Given the description of an element on the screen output the (x, y) to click on. 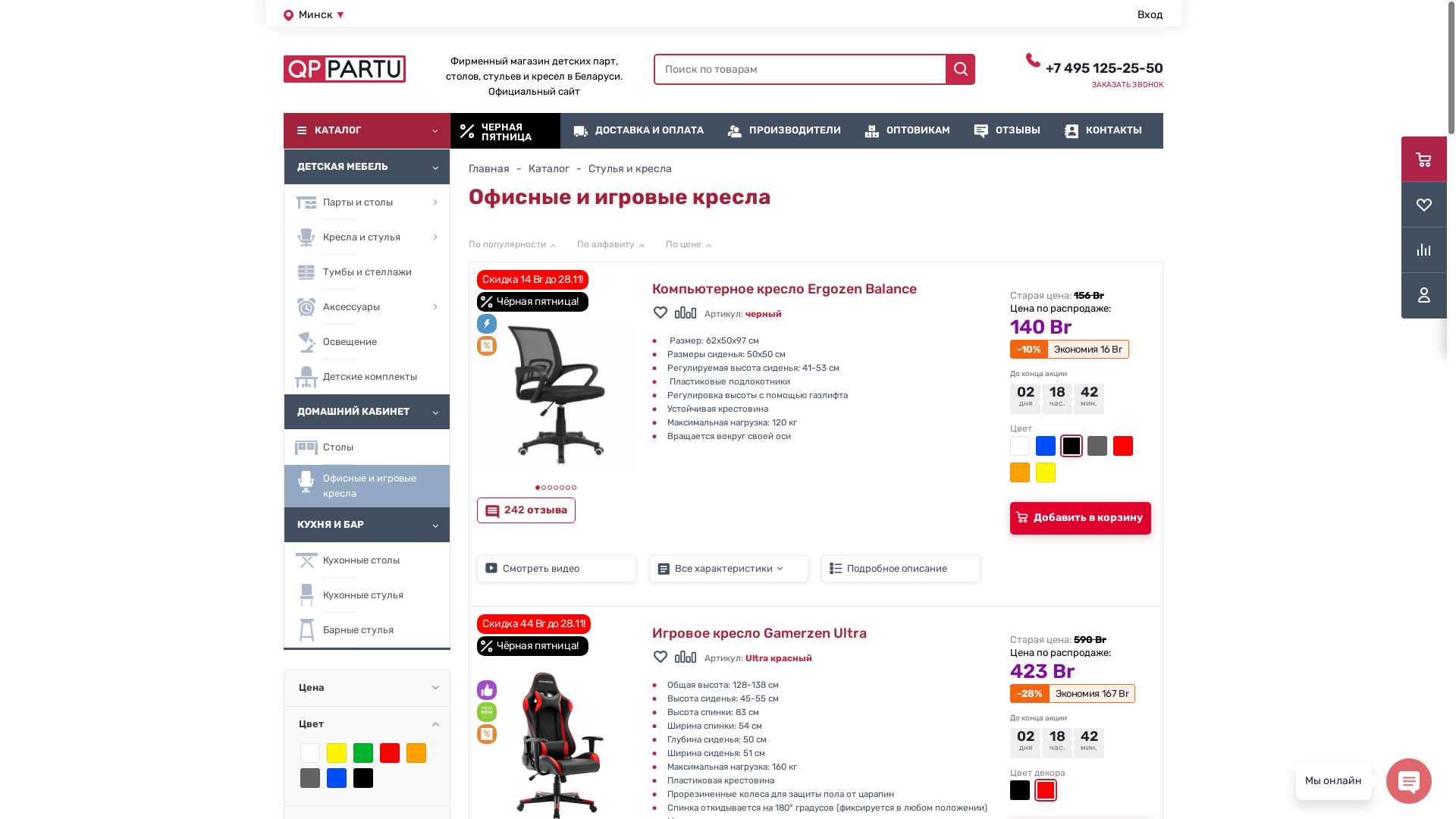
Y Element type: text (4, 4)
+7 495 125-25-50 Element type: text (1104, 67)
qp-partu.ru Element type: hover (344, 68)
